Given the description of an element on the screen output the (x, y) to click on. 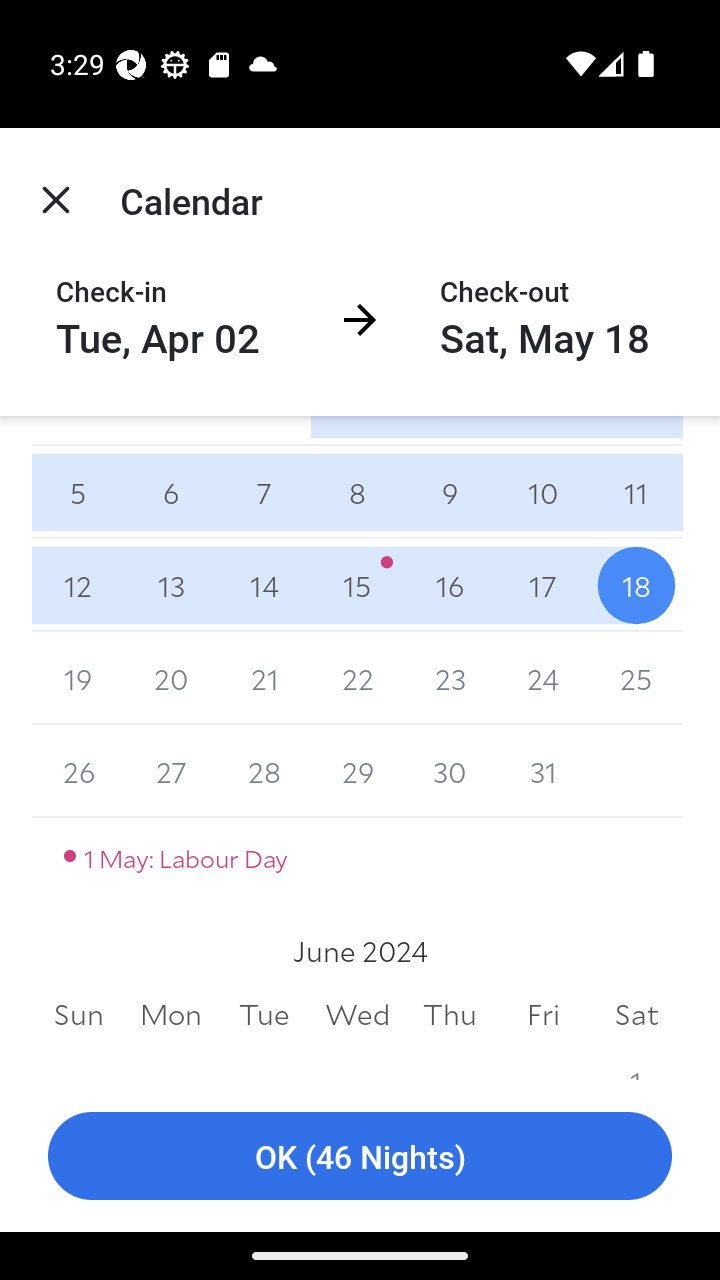
5 5 May 2024 (78, 491)
6 6 May 2024 (171, 491)
7 7 May 2024 (264, 491)
8 8 May 2024 (357, 491)
9 9 May 2024 (449, 491)
10 10 May 2024 (542, 491)
11 11 May 2024 (636, 491)
12 12 May 2024 (78, 585)
13 13 May 2024 (171, 585)
14 14 May 2024 (264, 585)
15 15 May 2024 (357, 585)
16 16 May 2024 (449, 585)
17 17 May 2024 (542, 585)
18 18 May 2024 (636, 585)
19 19 May 2024 (78, 678)
20 20 May 2024 (171, 678)
21 21 May 2024 (264, 678)
22 22 May 2024 (357, 678)
23 23 May 2024 (449, 678)
24 24 May 2024 (542, 678)
25 25 May 2024 (636, 678)
26 26 May 2024 (78, 770)
27 27 May 2024 (171, 770)
28 28 May 2024 (264, 770)
29 29 May 2024 (357, 770)
30 30 May 2024 (449, 770)
31 31 May 2024 (542, 770)
Sun (78, 1014)
Mon (171, 1014)
Tue (264, 1014)
Wed (357, 1014)
Thu (449, 1014)
Fri (542, 1014)
Sat (636, 1014)
OK (46 Nights) (359, 1156)
